Given the description of an element on the screen output the (x, y) to click on. 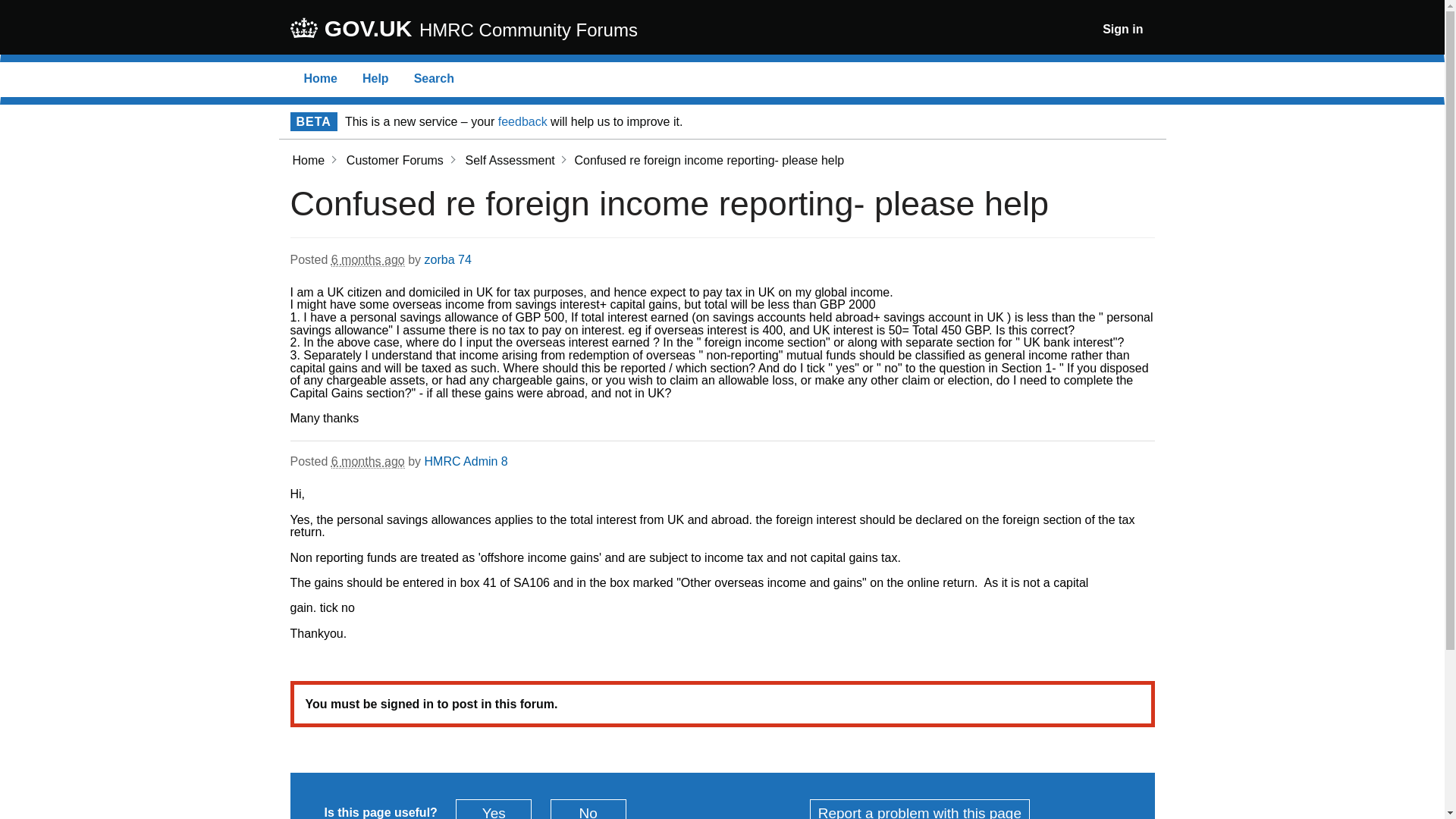
GOV.UK (351, 28)
Skip to main content (11, 7)
Home (319, 78)
Home (308, 160)
Home (319, 78)
feedback (522, 121)
Sign in (1122, 29)
zorba 74 (448, 259)
HMRC Community Forums (528, 29)
Report a problem with this page (919, 809)
HMRC Admin 8 (466, 461)
Help (375, 78)
HMRC Admin 8 (493, 809)
